Given the description of an element on the screen output the (x, y) to click on. 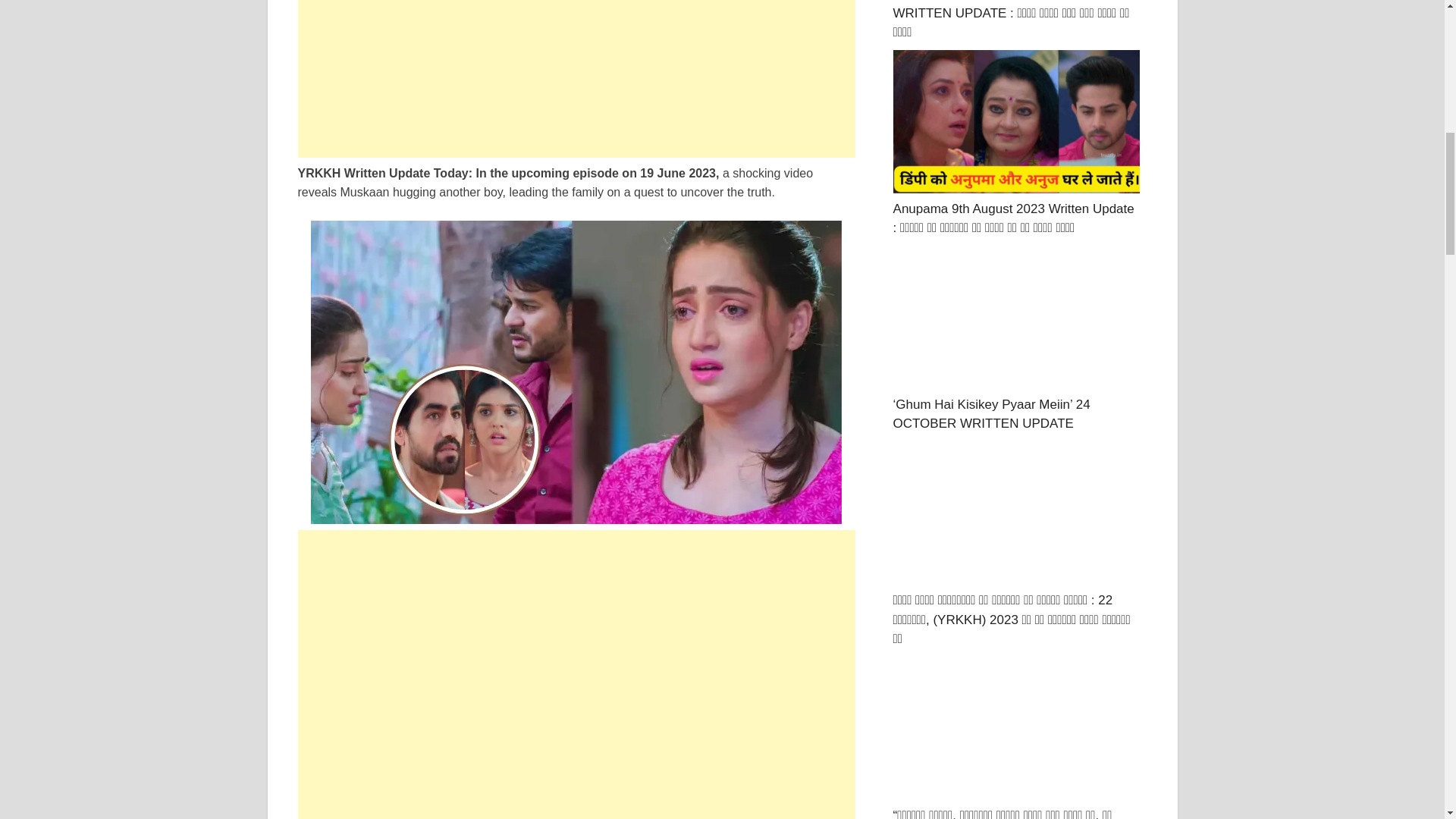
Advertisement (575, 79)
Advertisement (575, 780)
Advertisement (575, 635)
